Given the description of an element on the screen output the (x, y) to click on. 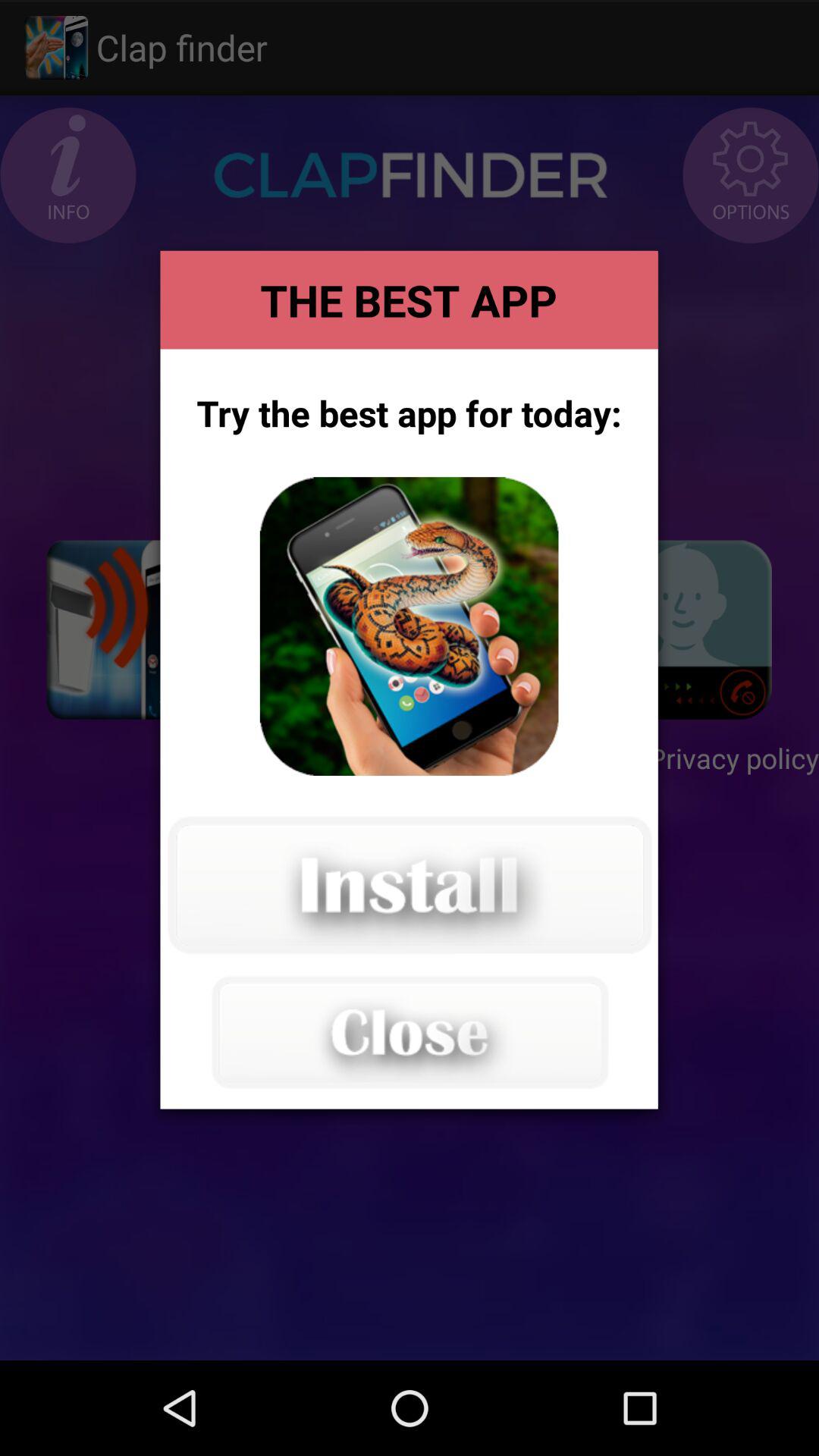
select item at the bottom (409, 1031)
